Given the description of an element on the screen output the (x, y) to click on. 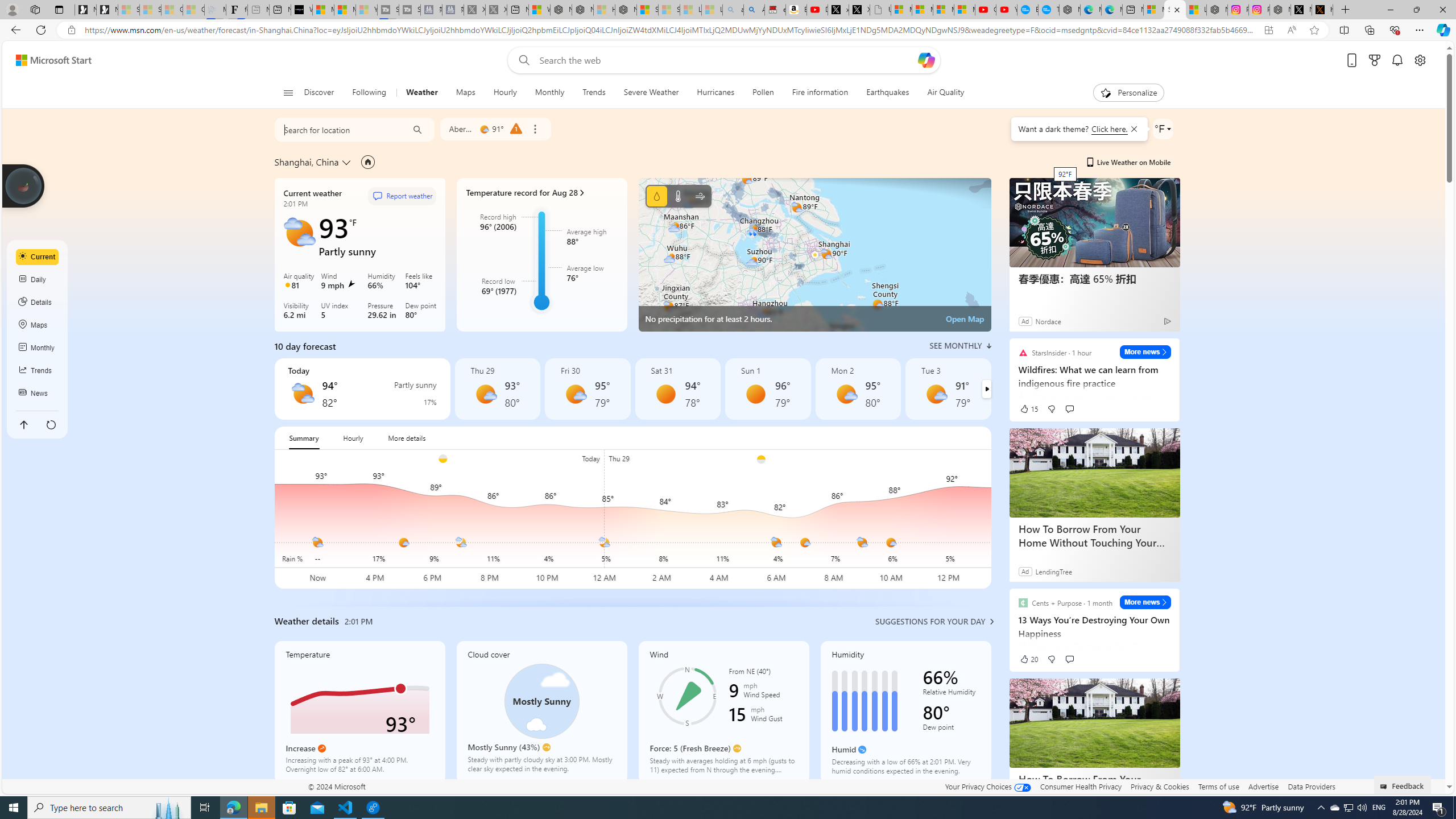
More news (1144, 602)
Fire information (820, 92)
Search for location (337, 128)
Trends (593, 92)
Wind (699, 195)
Monthly (37, 347)
Your Privacy Choices (987, 786)
